Given the description of an element on the screen output the (x, y) to click on. 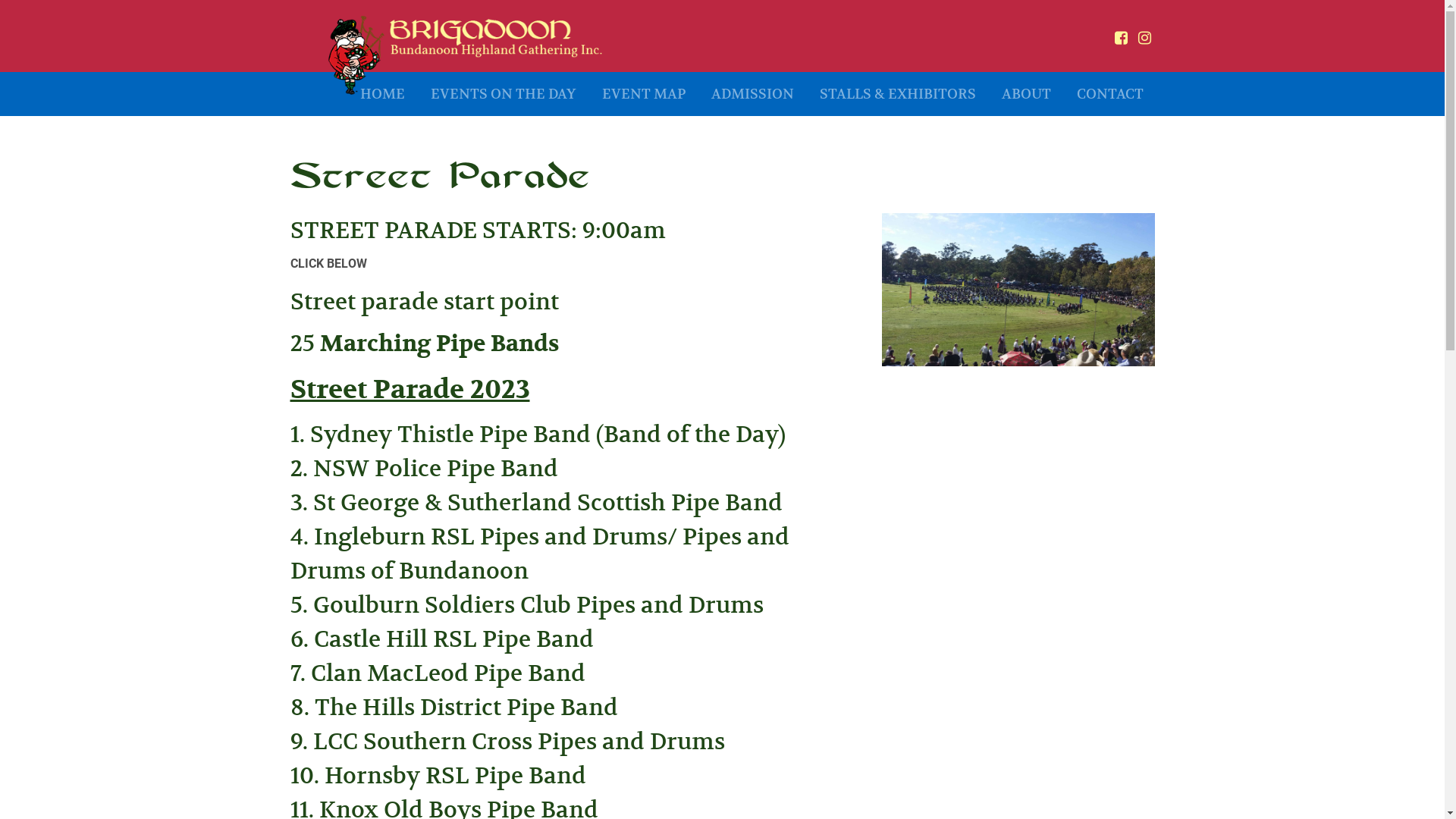
ABOUT Element type: text (1026, 94)
STALLS & EXHIBITORS Element type: text (897, 94)
CONTACT Element type: text (1109, 94)
HOME Element type: text (382, 94)
EVENTS ON THE DAY Element type: text (502, 94)
EVENT MAP Element type: text (642, 94)
ADMISSION Element type: text (751, 94)
2017 Brigadoon Photographs by Sue Perry (6) Element type: hover (1017, 289)
Street parade start point Element type: text (423, 301)
